Given the description of an element on the screen output the (x, y) to click on. 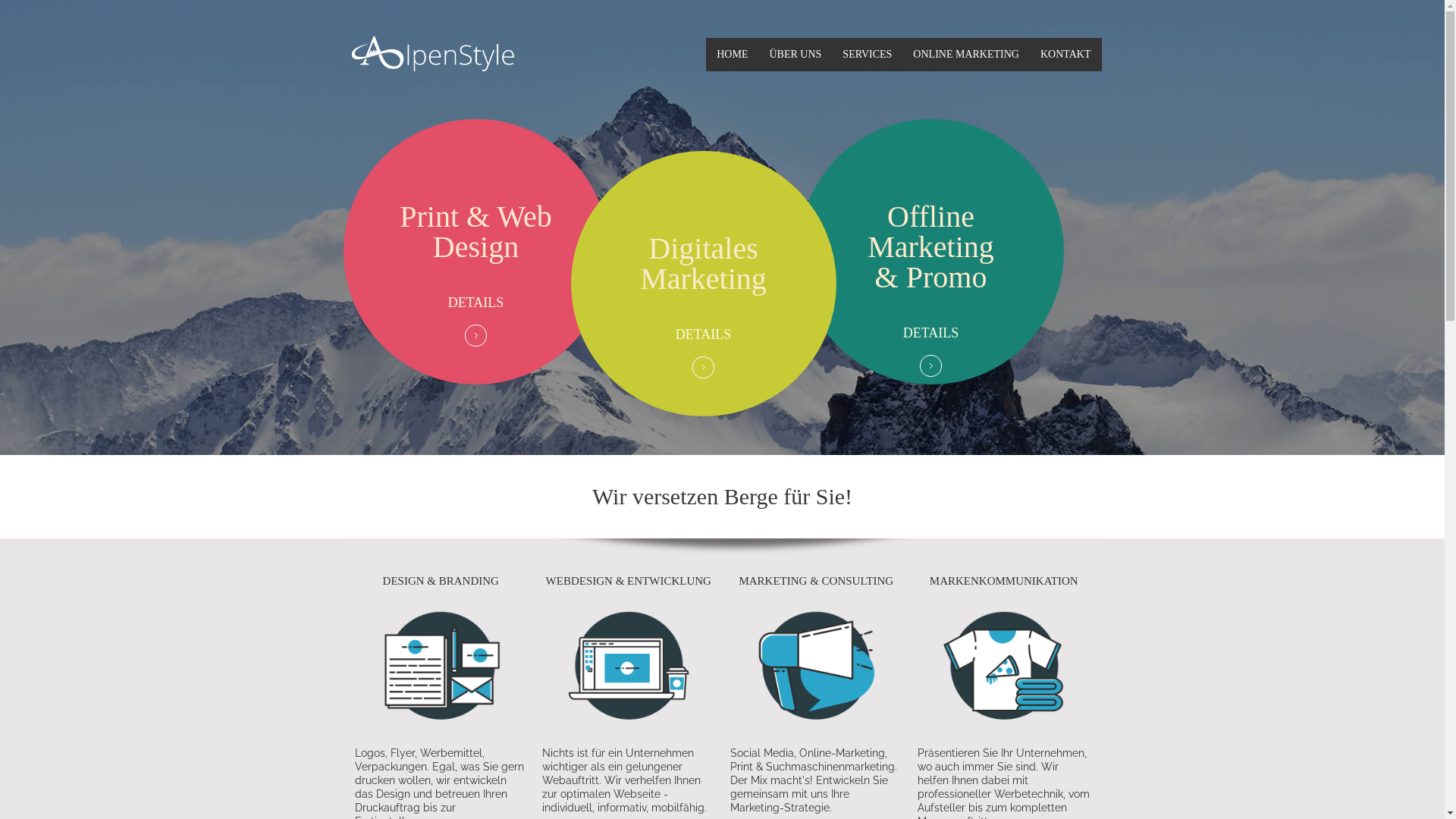
DETAILS Element type: text (931, 332)
ONLINE MARKETING Element type: text (965, 54)
DETAILS Element type: text (476, 302)
KONTAKT Element type: text (1065, 54)
HOME Element type: text (732, 54)
SERVICES Element type: text (866, 54)
DETAILS Element type: text (703, 334)
